Given the description of an element on the screen output the (x, y) to click on. 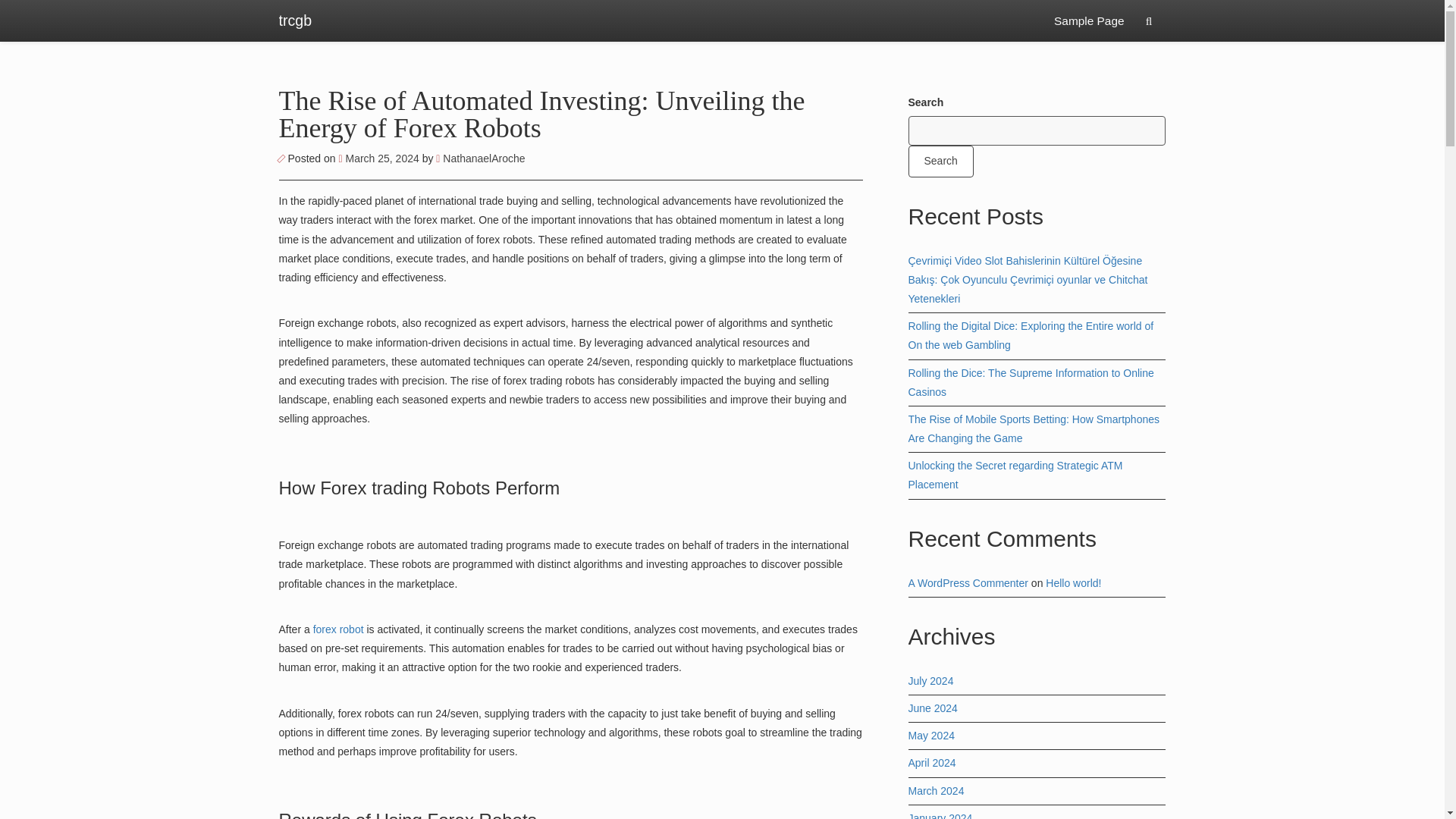
forex robot (338, 629)
May 2024 (931, 735)
Sample Page (1088, 20)
Unlocking the Secret regarding Strategic ATM Placement (1015, 474)
Search (941, 160)
Hello world! (1072, 582)
January 2024 (940, 815)
April 2024 (932, 762)
Rolling the Dice: The Supreme Information to Online Casinos (1031, 382)
NathanaelAroche (479, 158)
March 2024 (935, 790)
1:34 pm (379, 158)
